Given the description of an element on the screen output the (x, y) to click on. 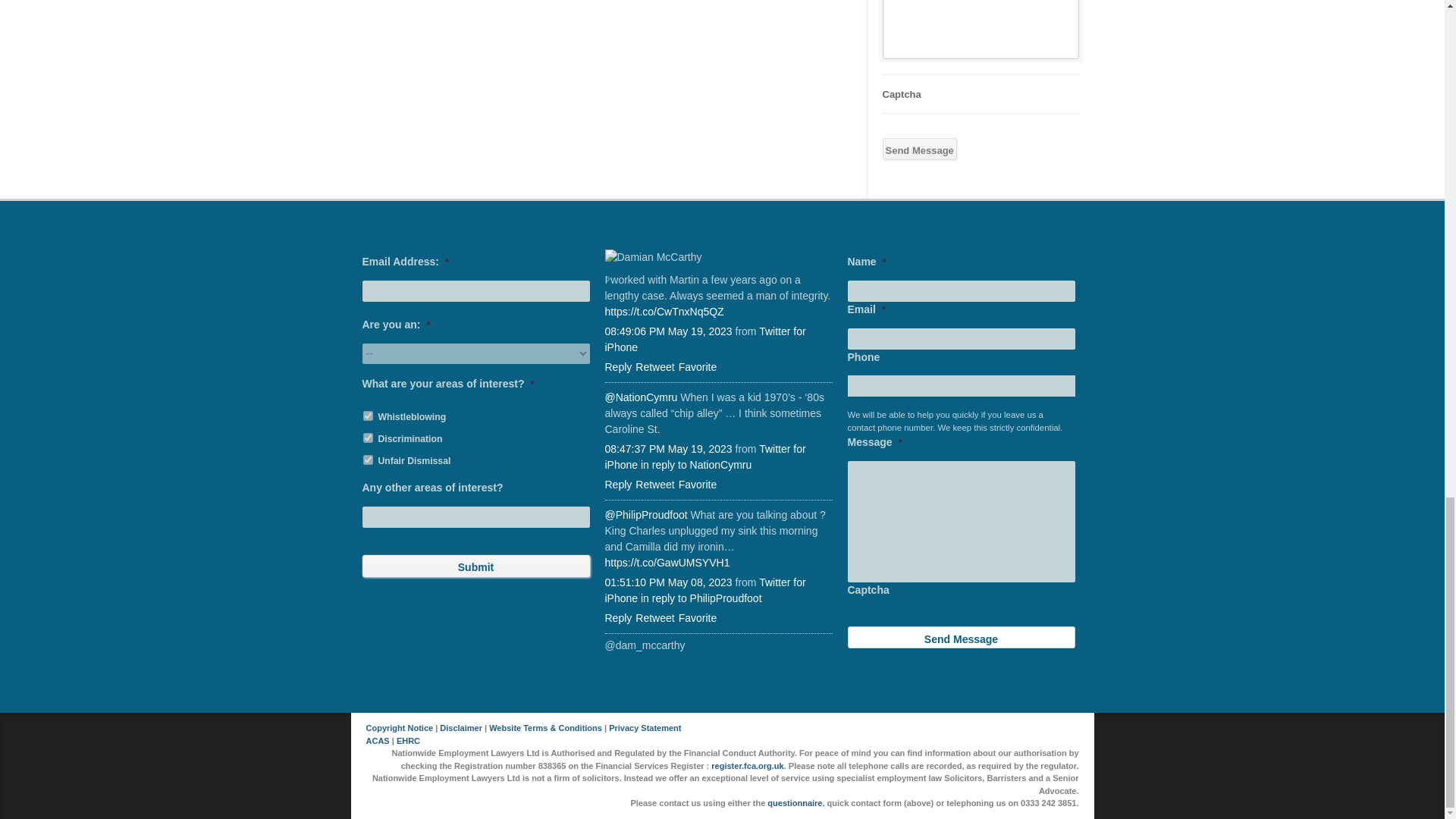
Favorite (697, 367)
Retweet (654, 484)
Whistleblowing (367, 415)
Send Message (961, 637)
Damian McCarthy (718, 257)
Submit (475, 566)
Favorite (697, 484)
Retweet (654, 367)
Unfair Dismissal (367, 460)
Retweet (654, 617)
Reply (618, 484)
Reply (618, 617)
Discrimination (367, 438)
Reply (618, 367)
Favorite (697, 617)
